Given the description of an element on the screen output the (x, y) to click on. 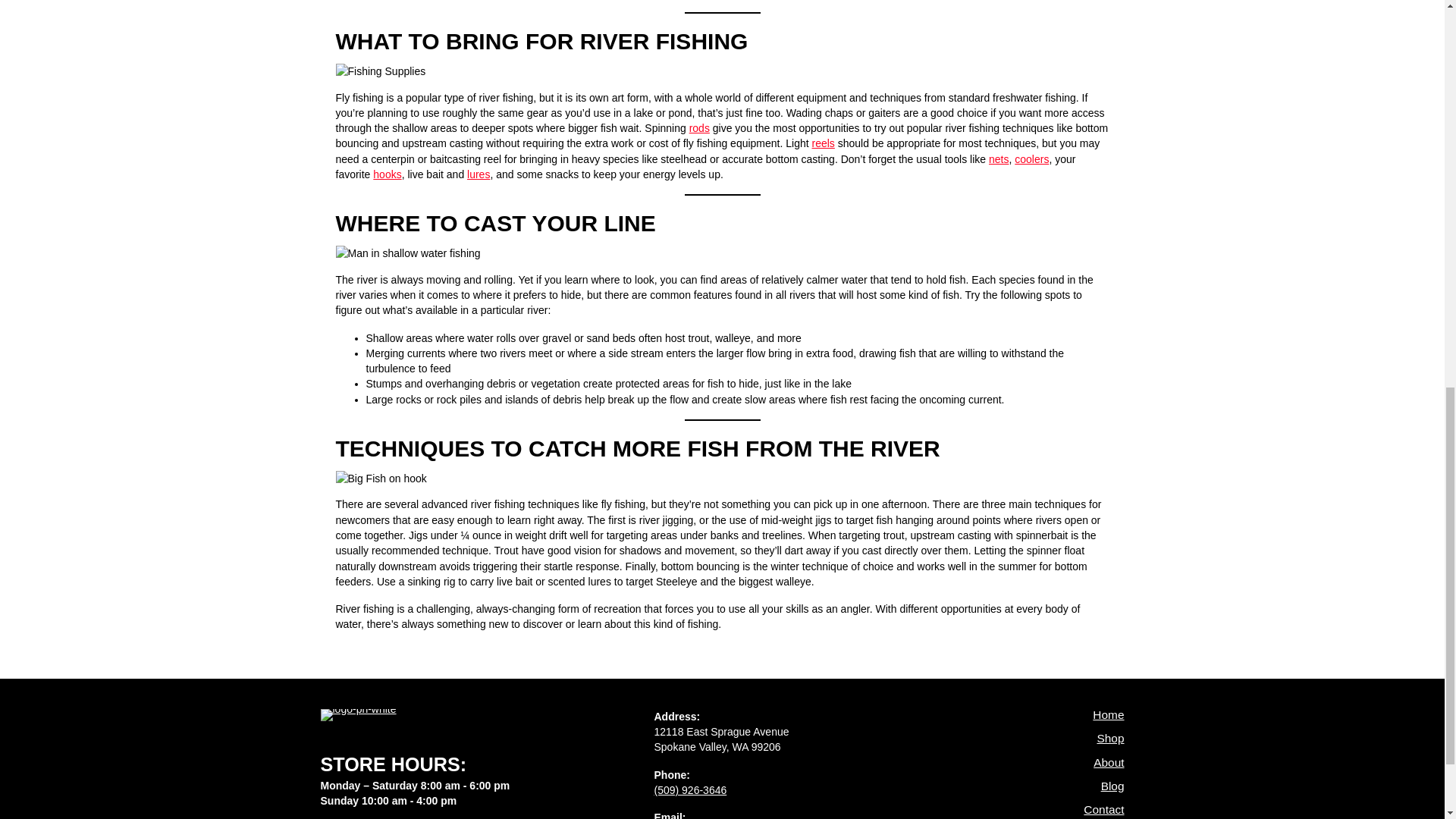
lures (478, 174)
rods (699, 128)
nets (998, 159)
Home (1051, 720)
hooks (386, 174)
reels (823, 143)
Shop (1051, 743)
About (1051, 767)
Contact (1051, 811)
logo-ph-white (358, 715)
